Given the description of an element on the screen output the (x, y) to click on. 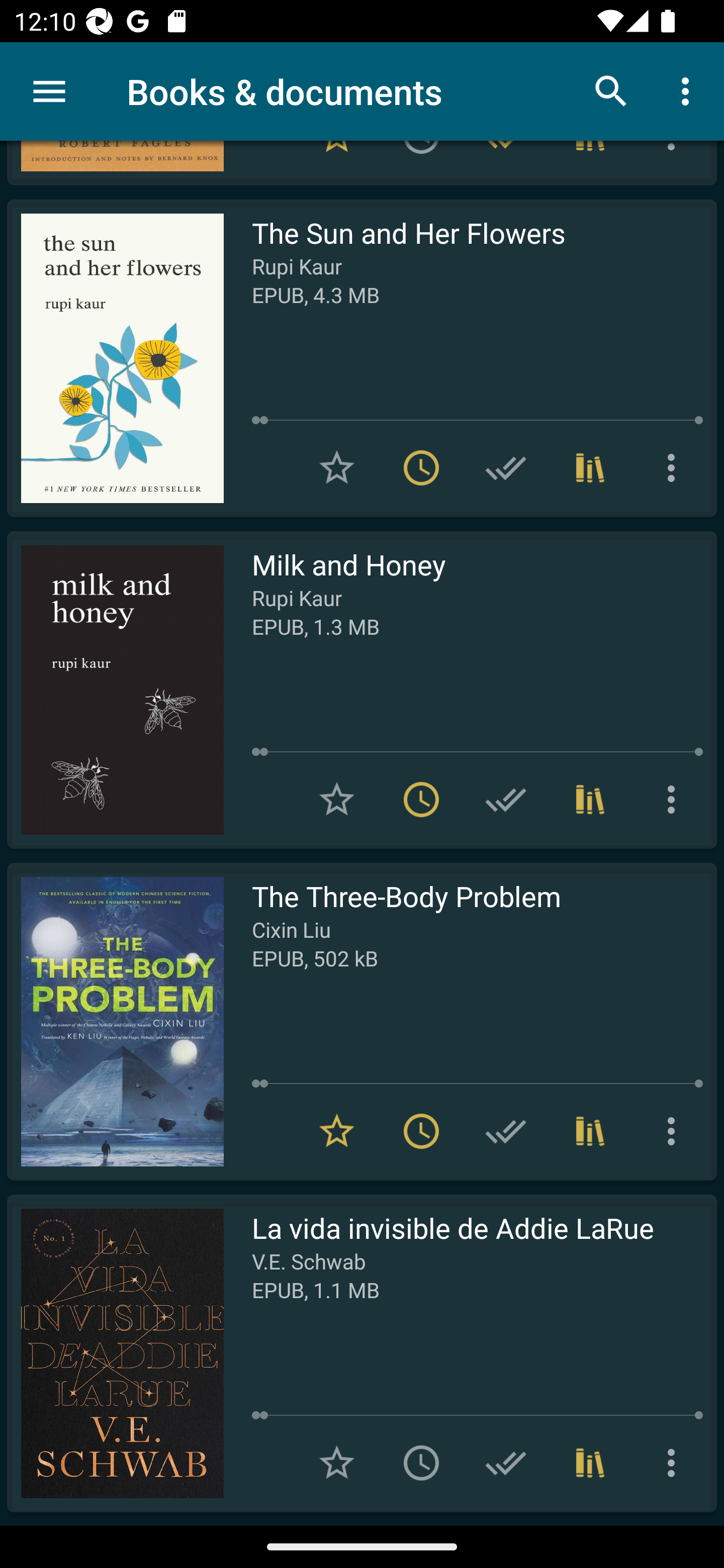
Menu (49, 91)
Search books & documents (611, 90)
More options (688, 90)
Read The Sun and Her Flowers (115, 358)
Add to Favorites (336, 466)
Remove from To read (421, 466)
Add to Have read (505, 466)
Collections (1) (590, 466)
More options (674, 466)
Read Milk and Honey (115, 689)
Add to Favorites (336, 799)
Remove from To read (421, 799)
Add to Have read (505, 799)
Collections (2) (590, 799)
More options (674, 799)
Read The Three-Body Problem (115, 1021)
Remove from Favorites (336, 1130)
Remove from To read (421, 1130)
Add to Have read (505, 1130)
Collections (1) (590, 1130)
More options (674, 1130)
Read La vida invisible de Addie LaRue (115, 1352)
Add to Favorites (336, 1462)
Add to To read (421, 1462)
Add to Have read (505, 1462)
Collections (1) (590, 1462)
More options (674, 1462)
